Given the description of an element on the screen output the (x, y) to click on. 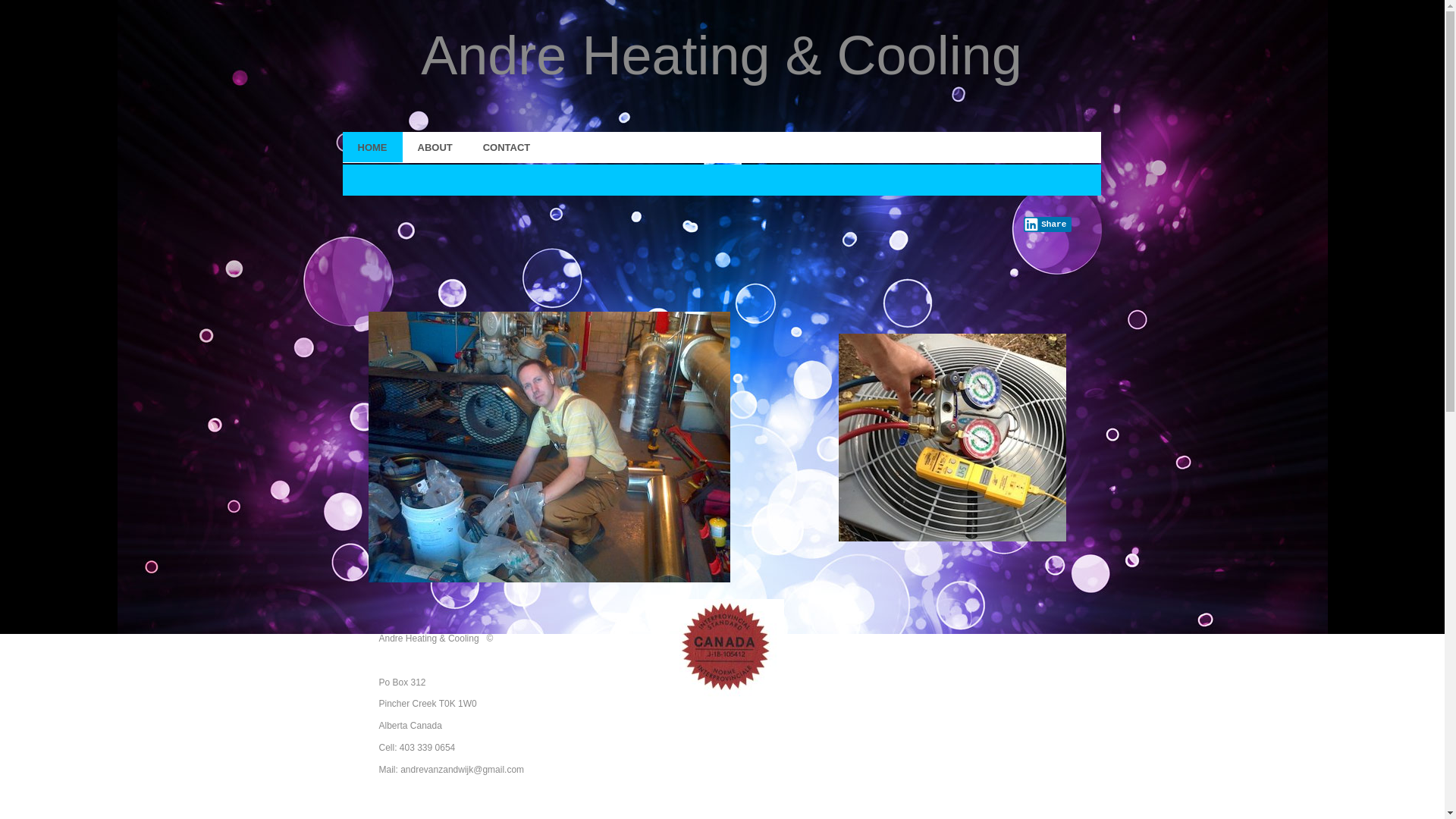
HOME Element type: text (372, 146)
HOME
ABOUT
CONTACT Element type: text (721, 147)
Share Element type: text (1047, 224)
CONTACT Element type: text (506, 146)
ABOUT Element type: text (434, 146)
